Given the description of an element on the screen output the (x, y) to click on. 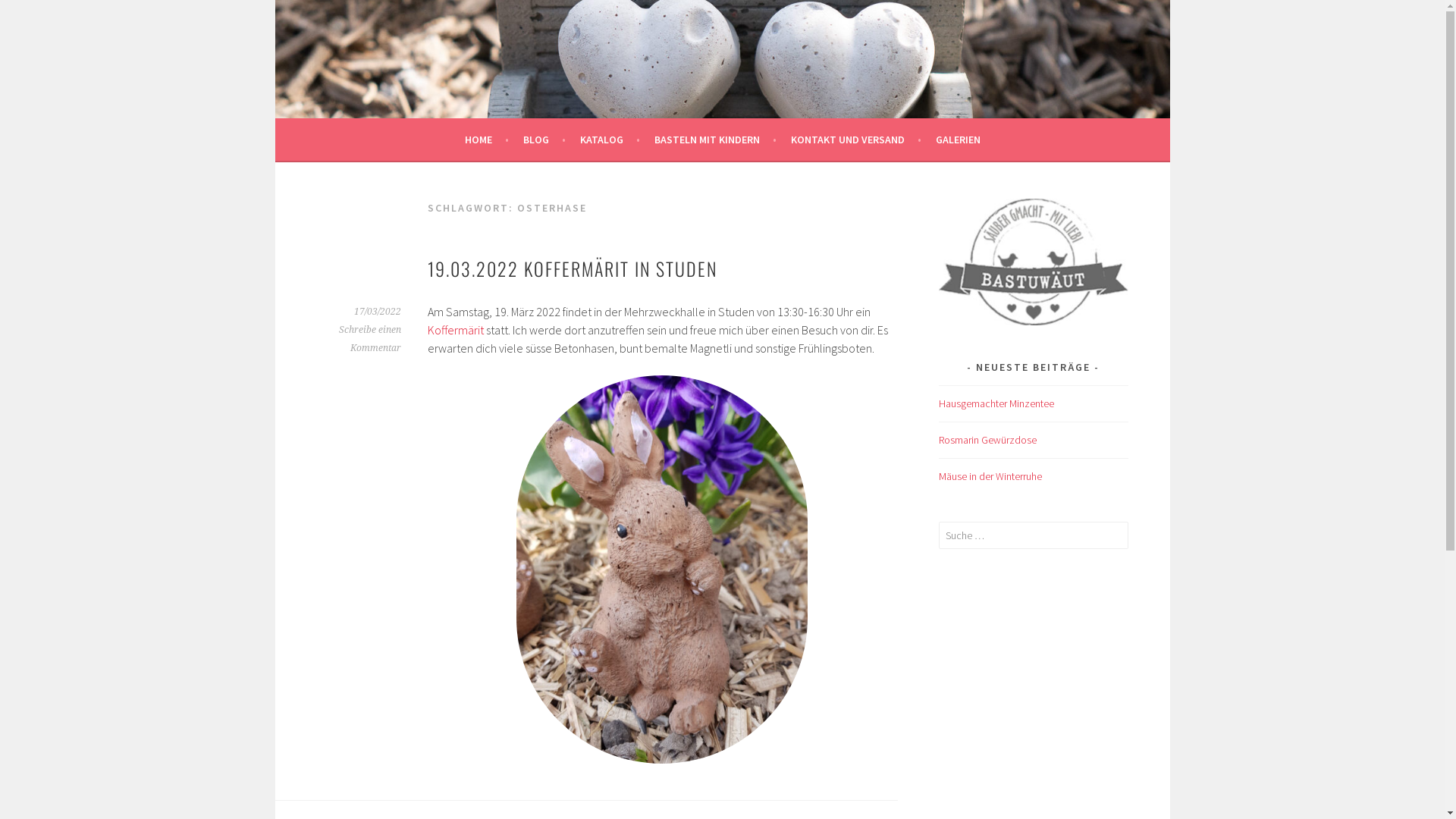
Hausgemachter Minzentee Element type: text (996, 403)
KATALOG Element type: text (609, 139)
Schreibe einen Kommentar Element type: text (369, 338)
KONTAKT UND VERSAND Element type: text (855, 139)
Suche Element type: text (25, 13)
17/03/2022 Element type: text (376, 311)
BLOG Element type: text (544, 139)
BASTELN MIT KINDERN Element type: text (714, 139)
GALERIEN Element type: text (957, 139)
HOME Element type: text (486, 139)
